Given the description of an element on the screen output the (x, y) to click on. 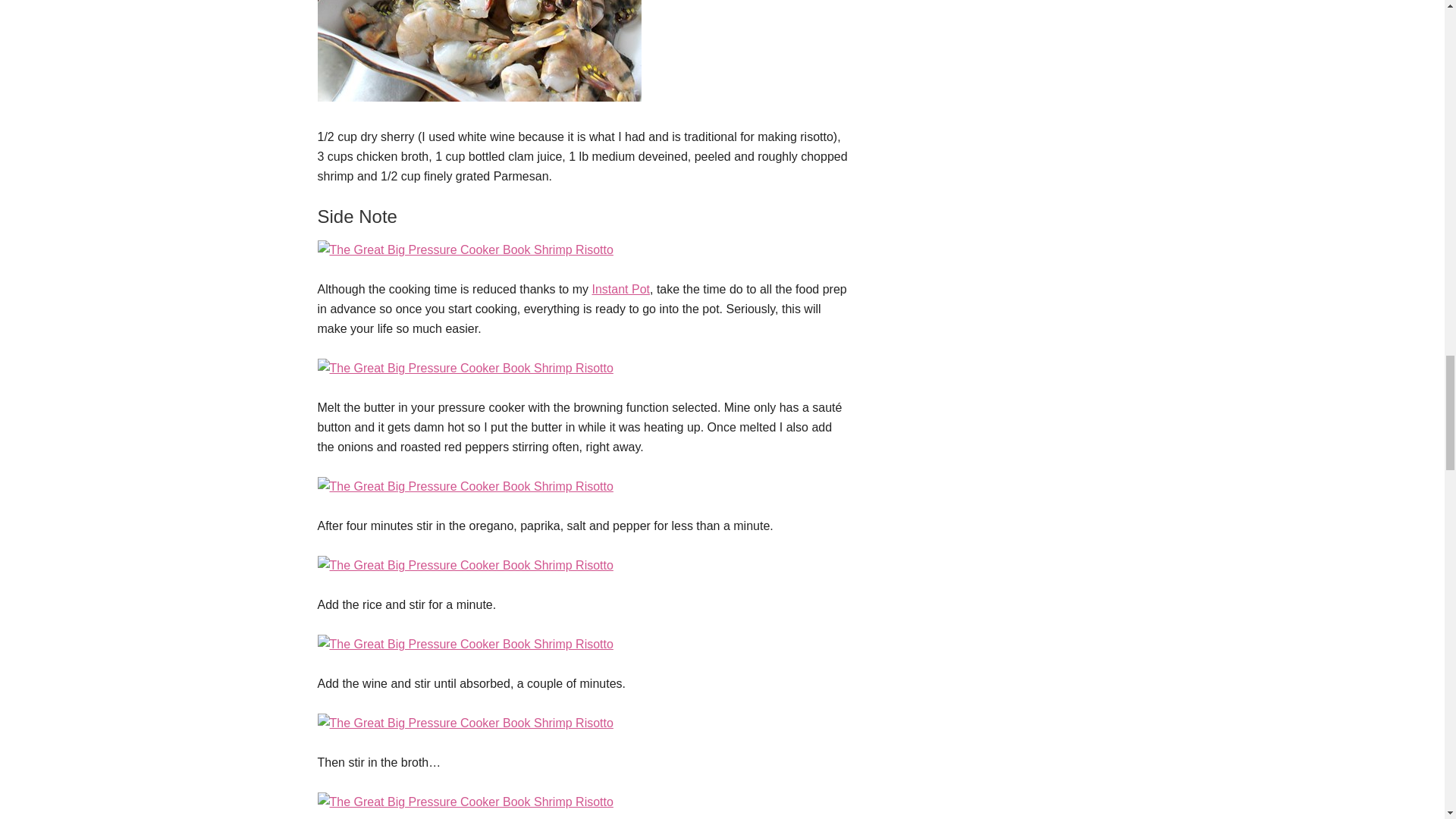
The Great Big Pressure Cooker Book Shrimp Risotto (464, 644)
The Great Big Pressure Cooker Book Shrimp Risotto (464, 367)
The Great Big Pressure Cooker Book Shrimp Risotto (464, 486)
The Great Big Pressure Cooker Book Shrimp Risotto (464, 564)
The Great Big Pressure Cooker Book Shrimp Risotto (478, 97)
Instant Pot (620, 288)
The Great Big Pressure Cooker Book Shrimp Risotto (464, 722)
The Great Big Pressure Cooker Book Shrimp Risotto (464, 249)
